Given the description of an element on the screen output the (x, y) to click on. 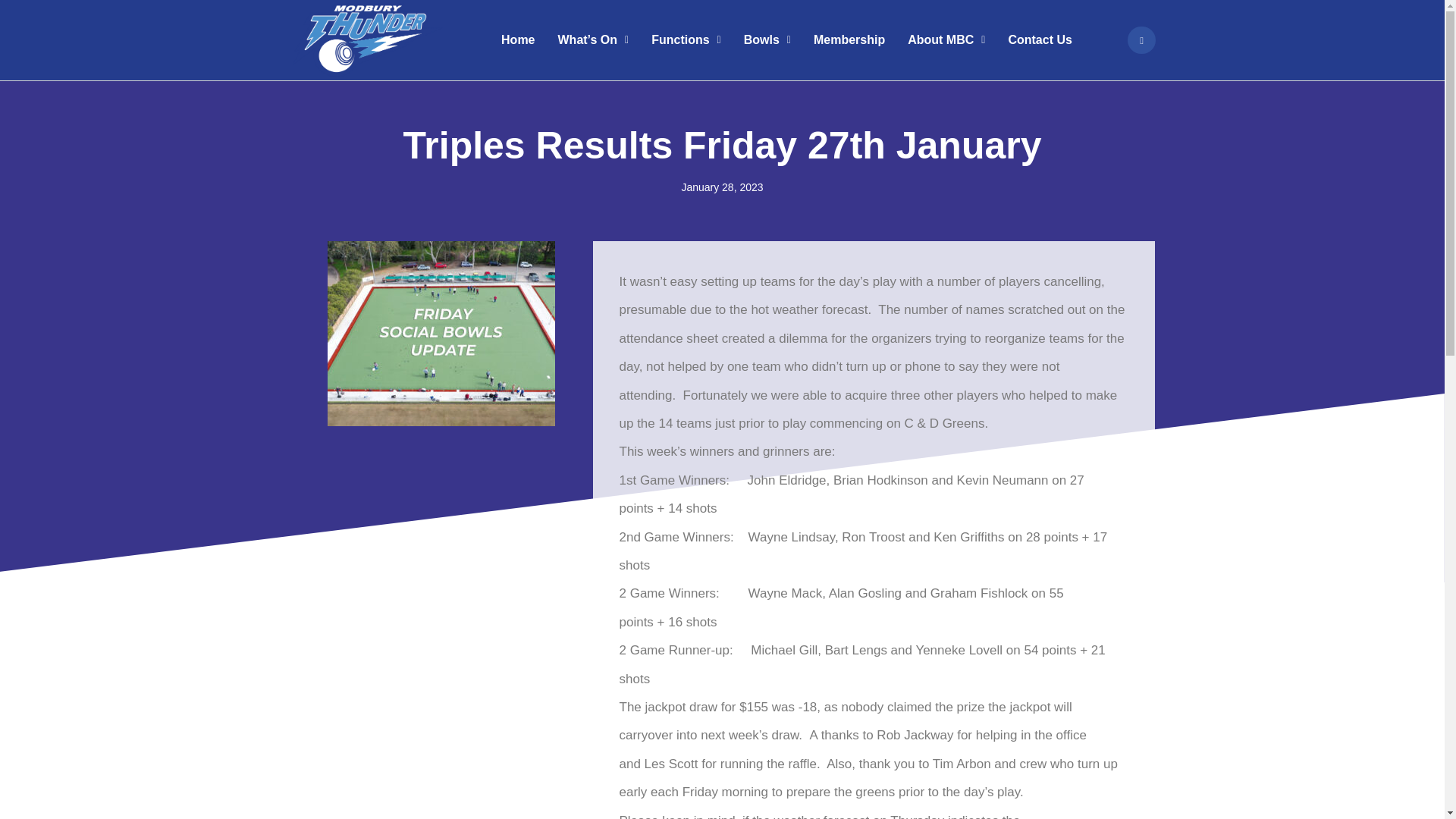
Contact Us (1039, 39)
Bowls (767, 39)
Home (517, 39)
Membership (849, 39)
Functions (686, 39)
About MBC (945, 39)
